Given the description of an element on the screen output the (x, y) to click on. 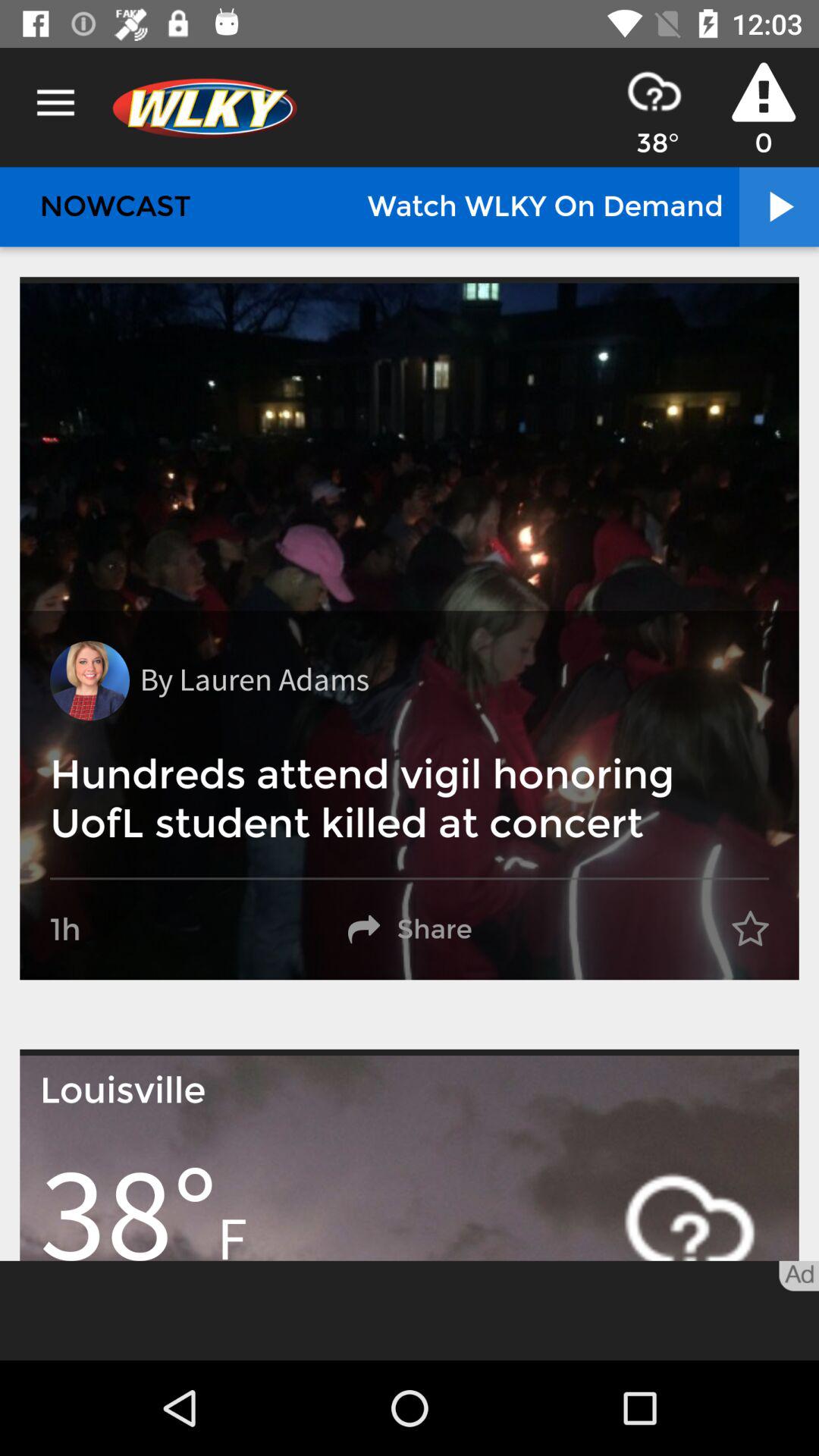
open the icon to the left of by lauren adams (89, 680)
